Given the description of an element on the screen output the (x, y) to click on. 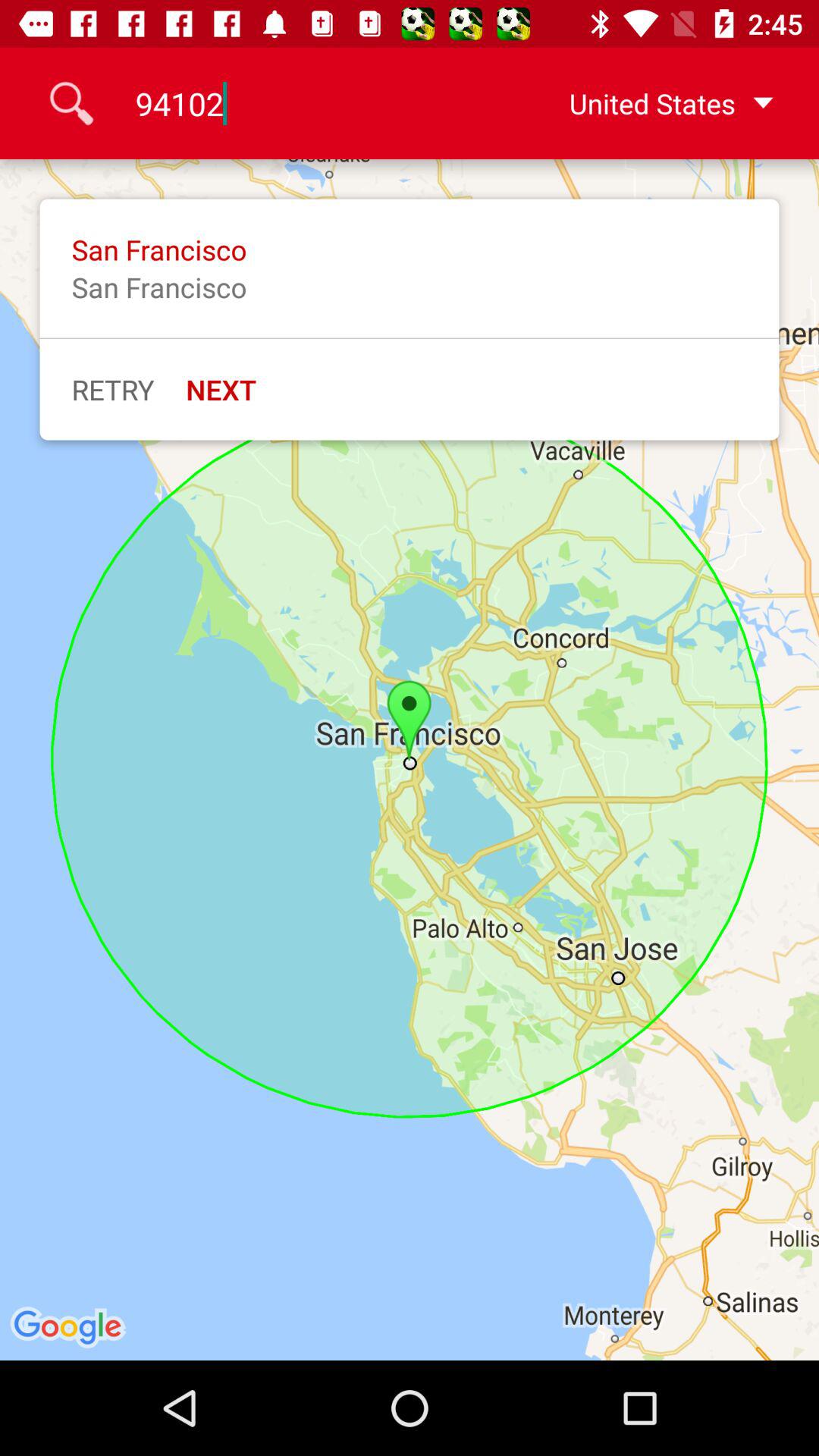
select the item to the left of next item (112, 389)
